Given the description of an element on the screen output the (x, y) to click on. 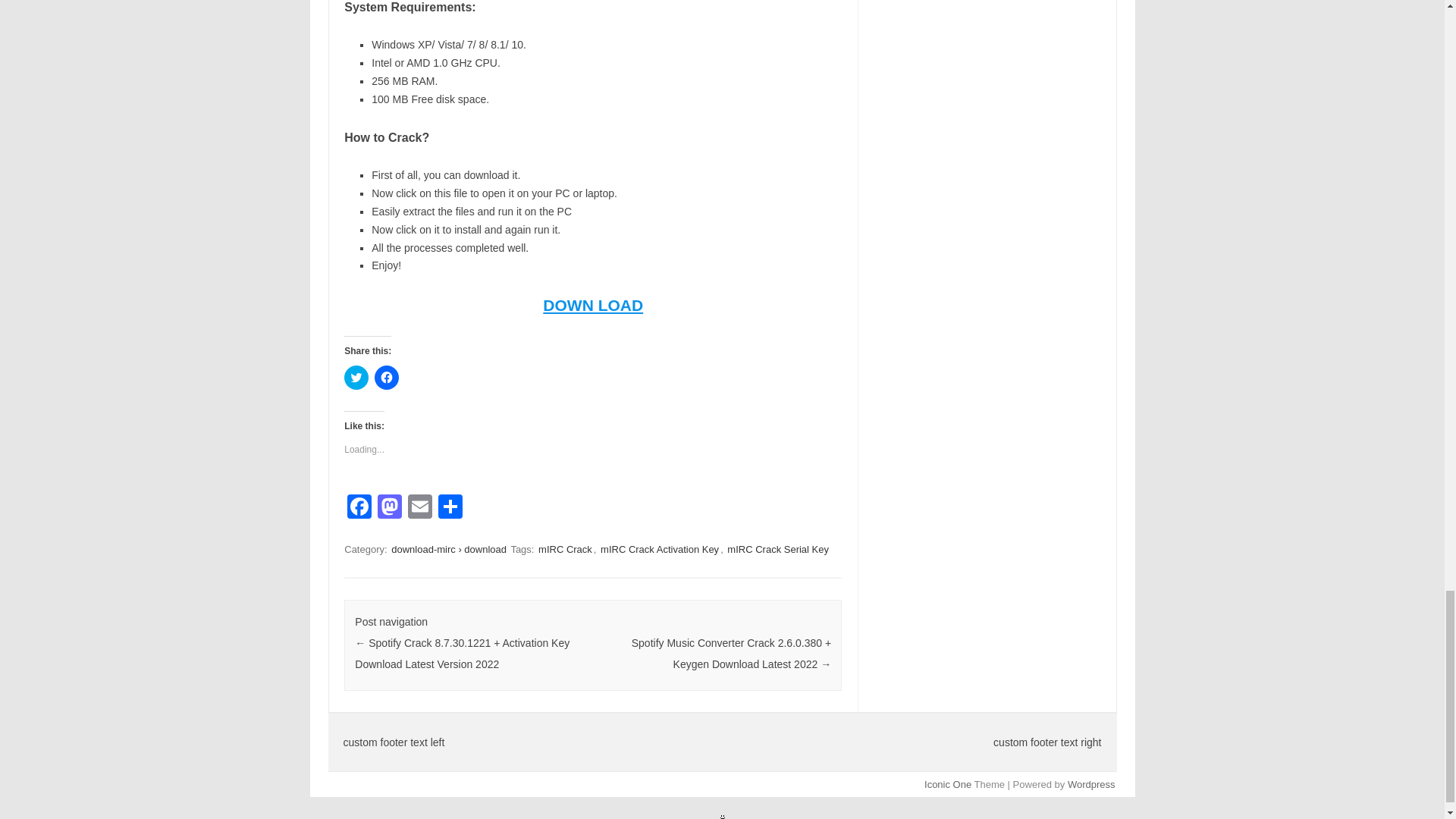
Facebook (358, 508)
mIRC Crack Activation Key (659, 549)
Email (419, 508)
Mastodon (389, 508)
Click to share on Facebook (386, 377)
Facebook (358, 508)
Click to share on Twitter (355, 377)
mIRC Crack Serial Key (777, 549)
Email (419, 508)
DOWN LOAD (593, 304)
mIRC Crack (565, 549)
Mastodon (389, 508)
